Given the description of an element on the screen output the (x, y) to click on. 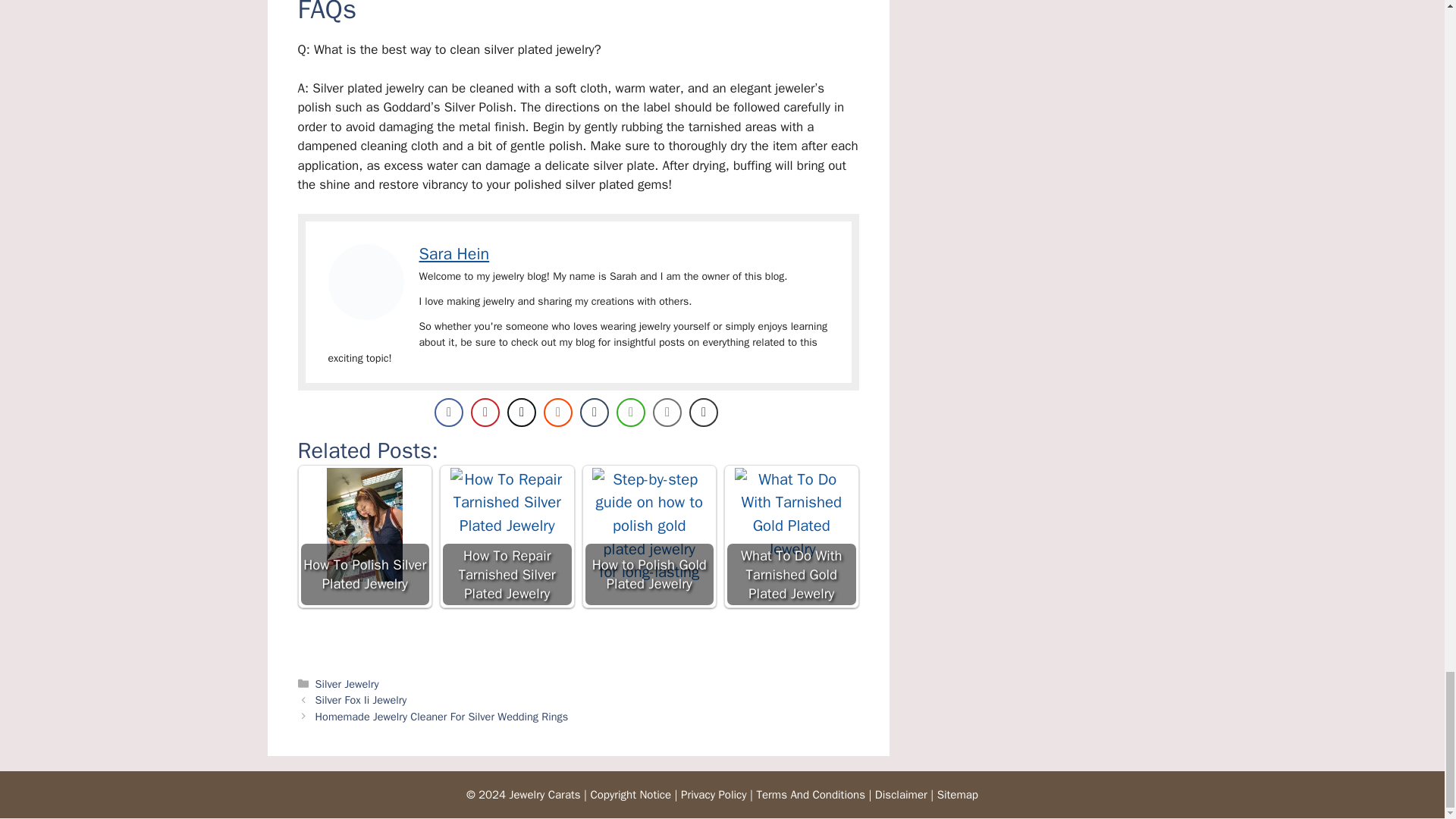
How to Polish Gold Plated Jewelry (649, 524)
How To Polish Tarnished Silver Plated Jewelry 2 (365, 282)
How To Repair Tarnished Silver Plated Jewelry (506, 524)
